Given the description of an element on the screen output the (x, y) to click on. 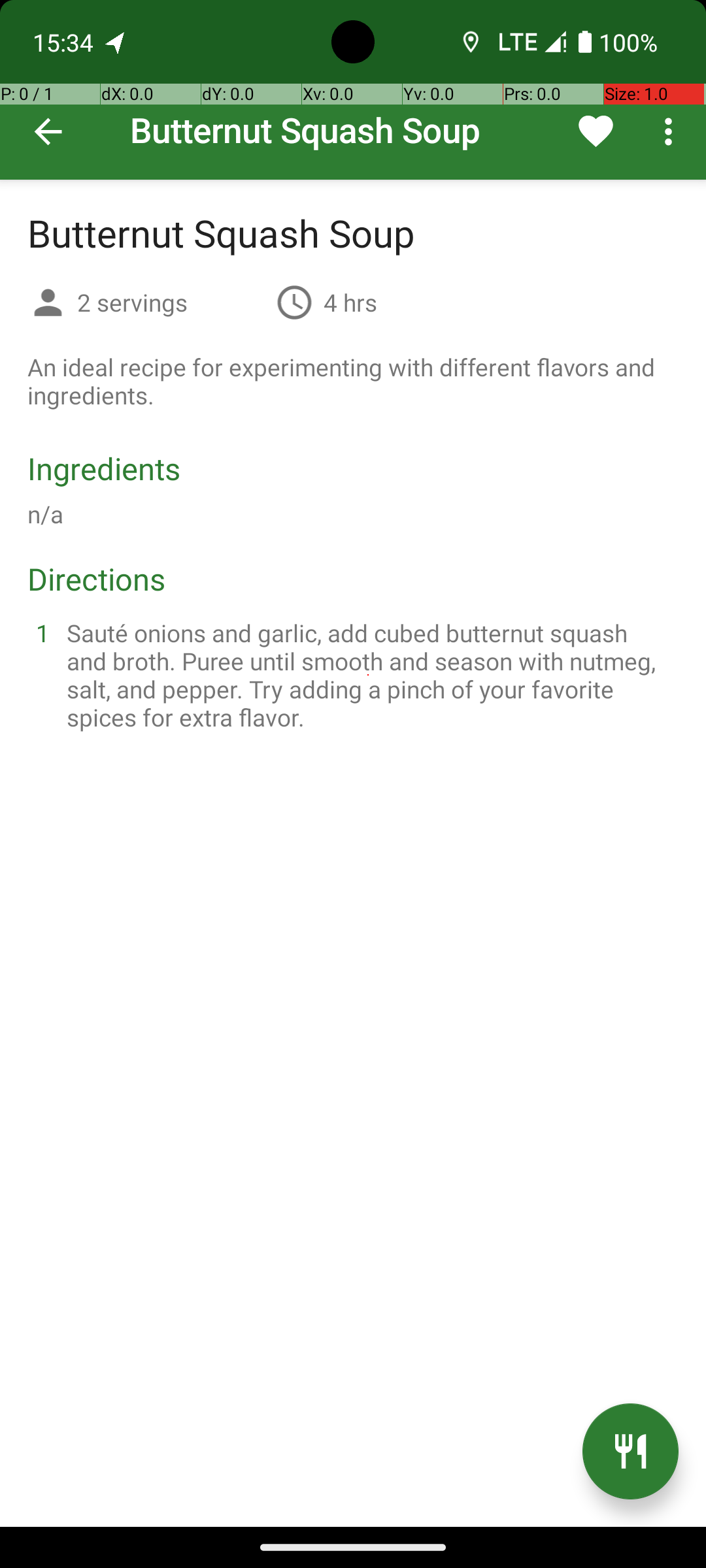
n/a Element type: android.widget.TextView (45, 513)
Sauté onions and garlic, add cubed butternut squash and broth. Puree until smooth and season with nutmeg, salt, and pepper. Try adding a pinch of your favorite spices for extra flavor. Element type: android.widget.TextView (368, 674)
OpenTracks notification:  Element type: android.widget.ImageView (115, 41)
